Given the description of an element on the screen output the (x, y) to click on. 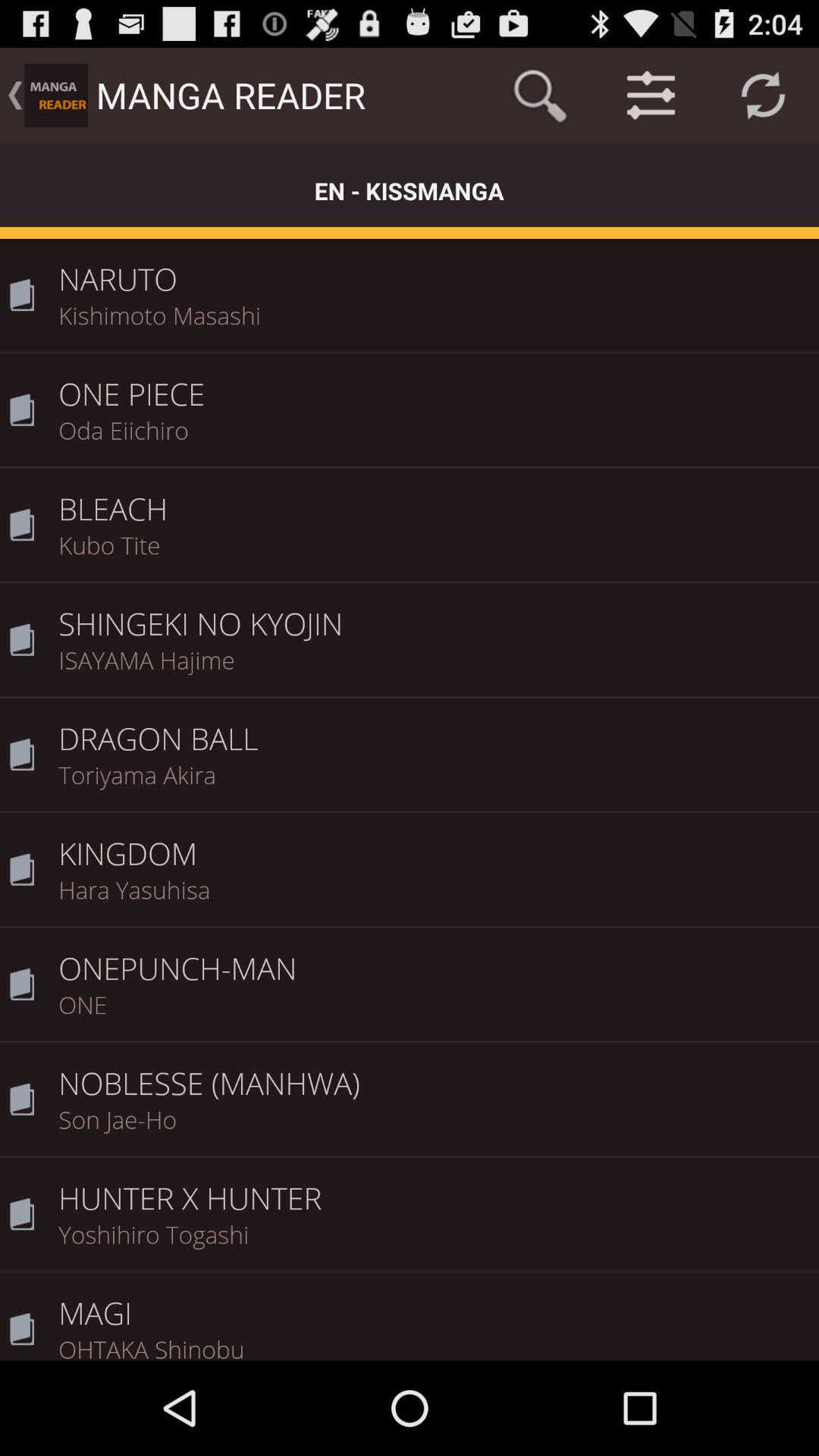
turn off the icon below oda eiichiro icon (433, 498)
